Given the description of an element on the screen output the (x, y) to click on. 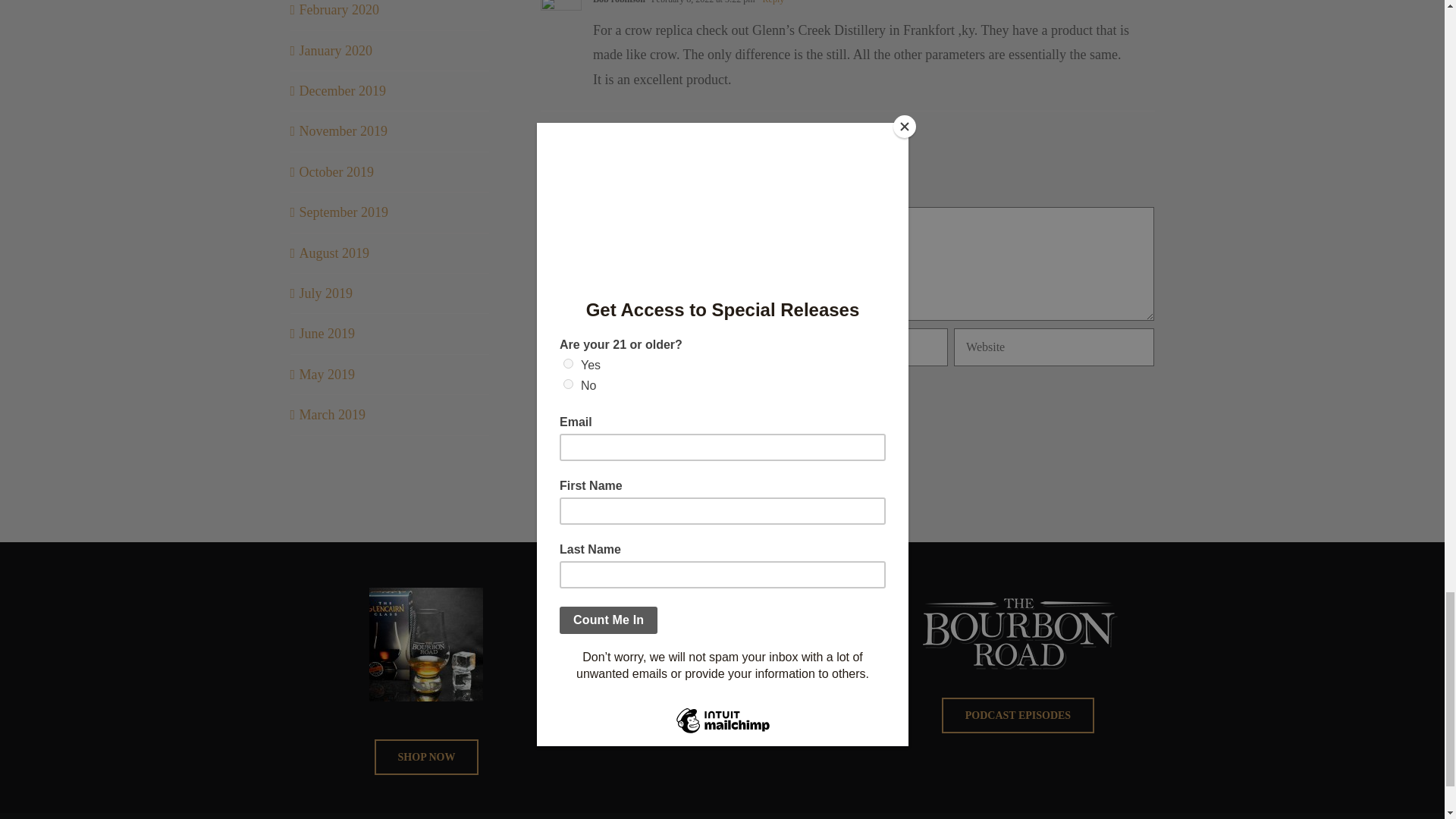
Post Comment (607, 437)
- Reply (769, 2)
1 (629, 393)
Post Comment (607, 437)
